Given the description of an element on the screen output the (x, y) to click on. 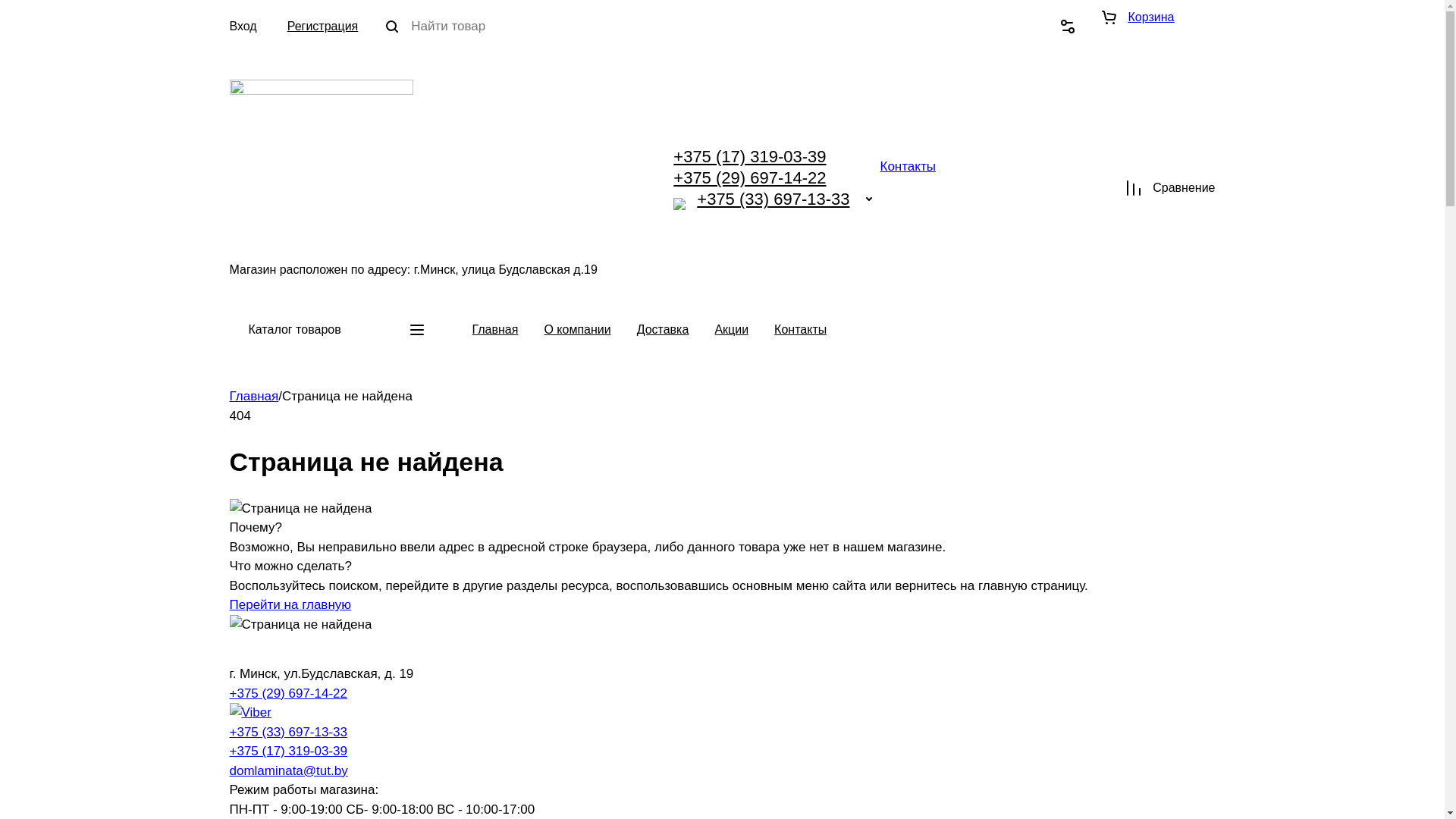
+375 (29) 697-14-22 Element type: text (749, 177)
Viber Element type: hover (249, 712)
+375 (29) 697-14-22 Element type: text (287, 693)
domlaminata@tut.by Element type: text (288, 770)
Viber Element type: hover (679, 203)
+375 (17) 319-03-39 Element type: text (287, 750)
+375 (33) 697-13-33 Element type: text (772, 198)
+375 (17) 319-03-39 Element type: text (749, 156)
+375 (33) 697-13-33 Element type: text (287, 731)
